Given the description of an element on the screen output the (x, y) to click on. 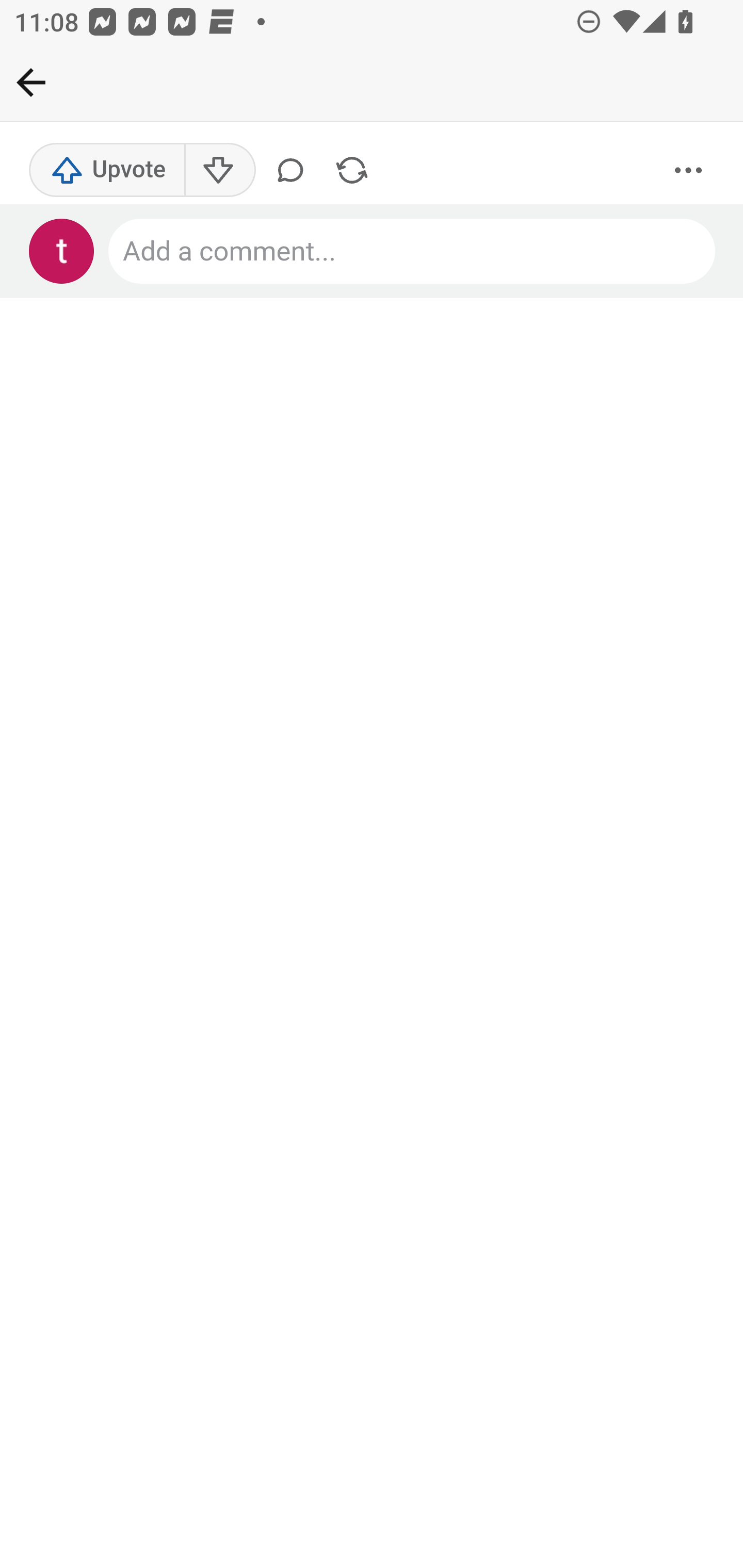
Back (30, 82)
Upvote (106, 170)
Downvote (219, 170)
Comment (293, 170)
Share (351, 170)
More (688, 170)
Profile photo for Test Appium (61, 252)
Add a comment... (412, 252)
